Given the description of an element on the screen output the (x, y) to click on. 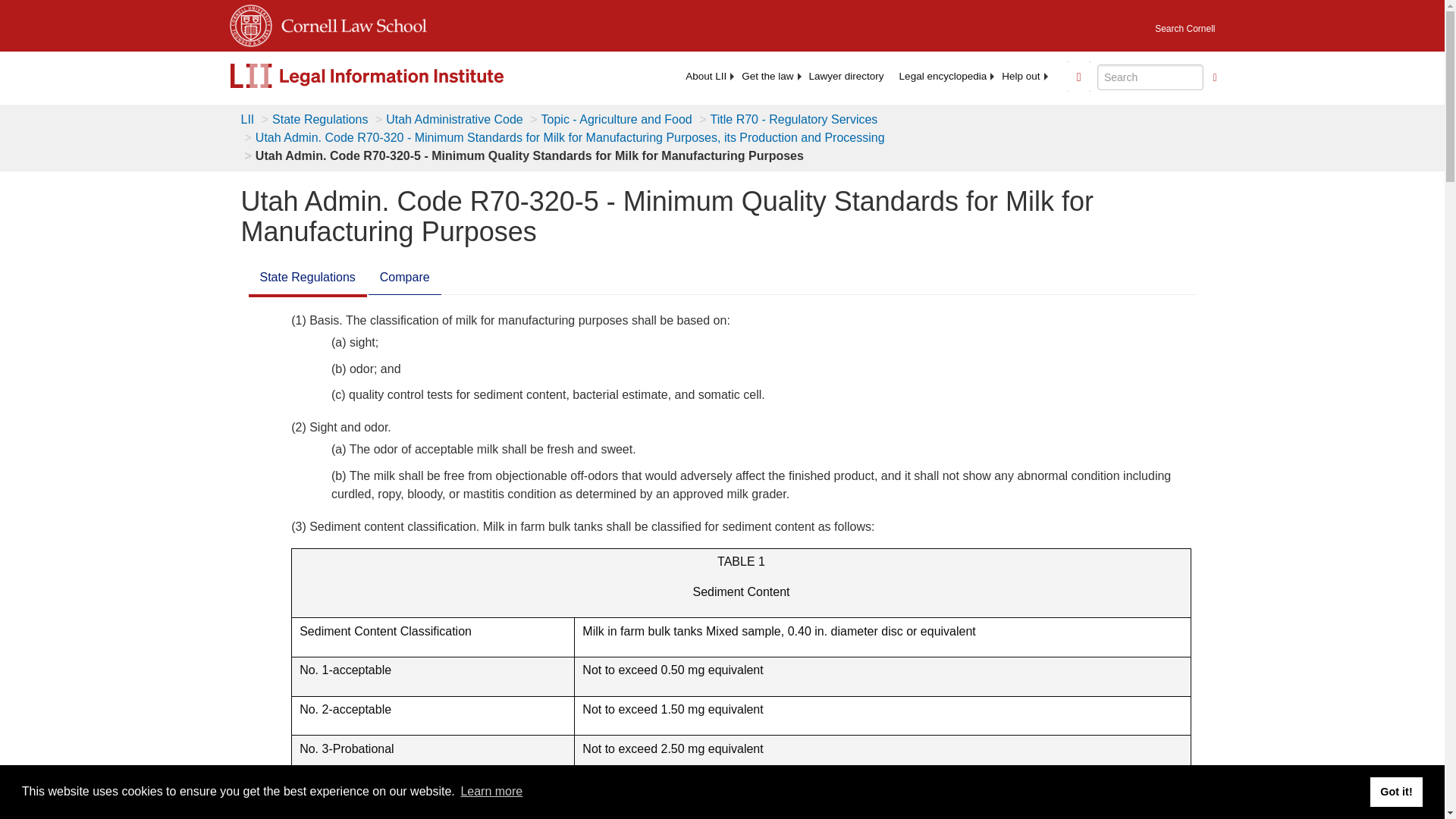
About LII (705, 76)
Get the law (766, 76)
Got it! (1396, 791)
Search Cornell (1184, 24)
Cornell Law School (348, 23)
Search Cornell University (1184, 24)
Cornell Law School (348, 23)
Cornell University (249, 23)
Lawyer directory (846, 76)
Learn more (491, 791)
Legal encyclopedia (942, 76)
